Given the description of an element on the screen output the (x, y) to click on. 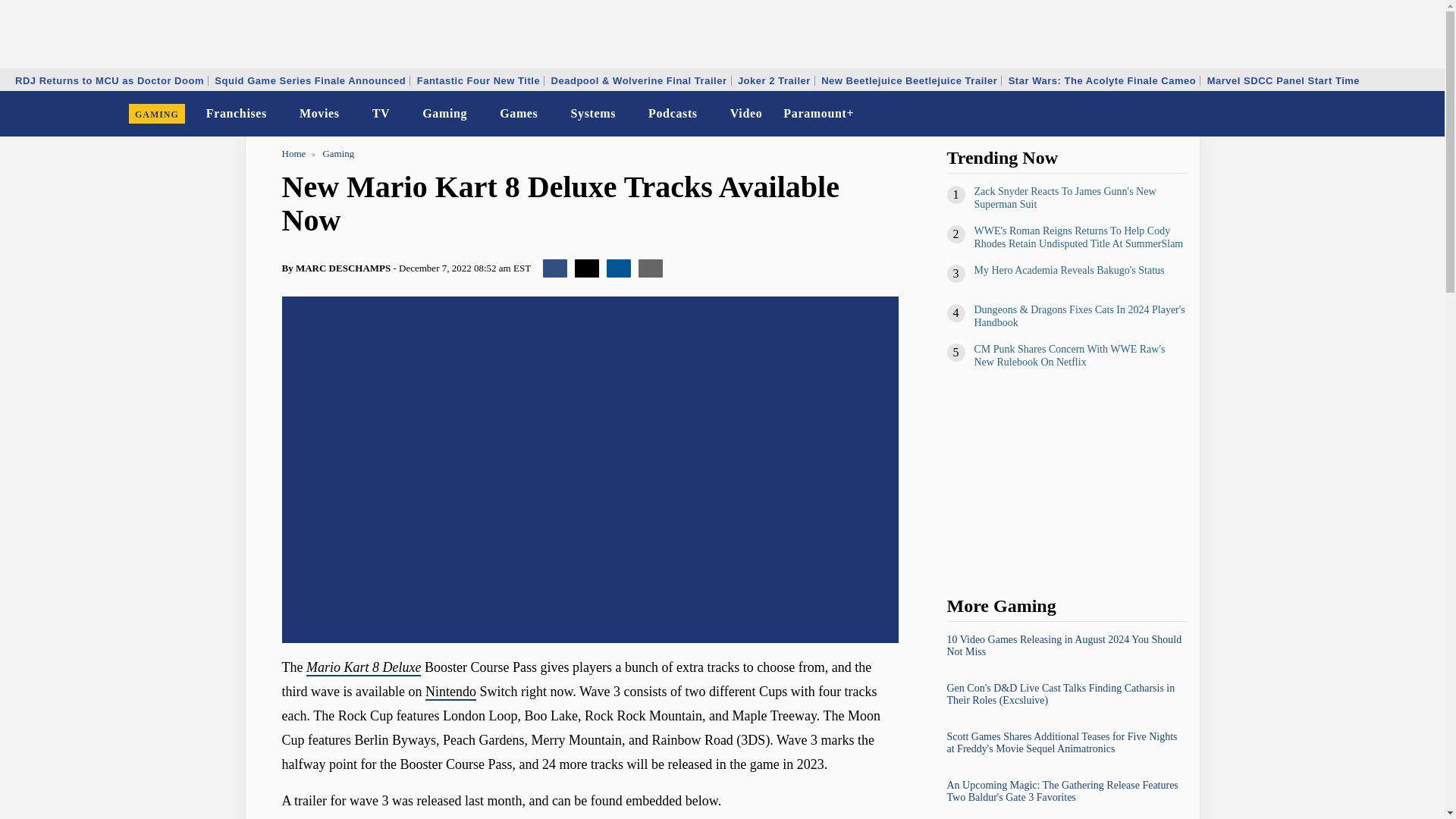
Marvel SDCC Panel Start Time (1283, 80)
Search (1422, 114)
Joker 2 Trailer (773, 80)
Fantastic Four New Title (478, 80)
Squid Game Series Finale Announced (310, 80)
Dark Mode (1394, 113)
Star Wars: The Acolyte Finale Cameo (1101, 80)
RDJ Returns to MCU as Doctor Doom (109, 80)
GAMING (157, 113)
Movies (320, 113)
New Beetlejuice Beetlejuice Trailer (908, 80)
